Given the description of an element on the screen output the (x, y) to click on. 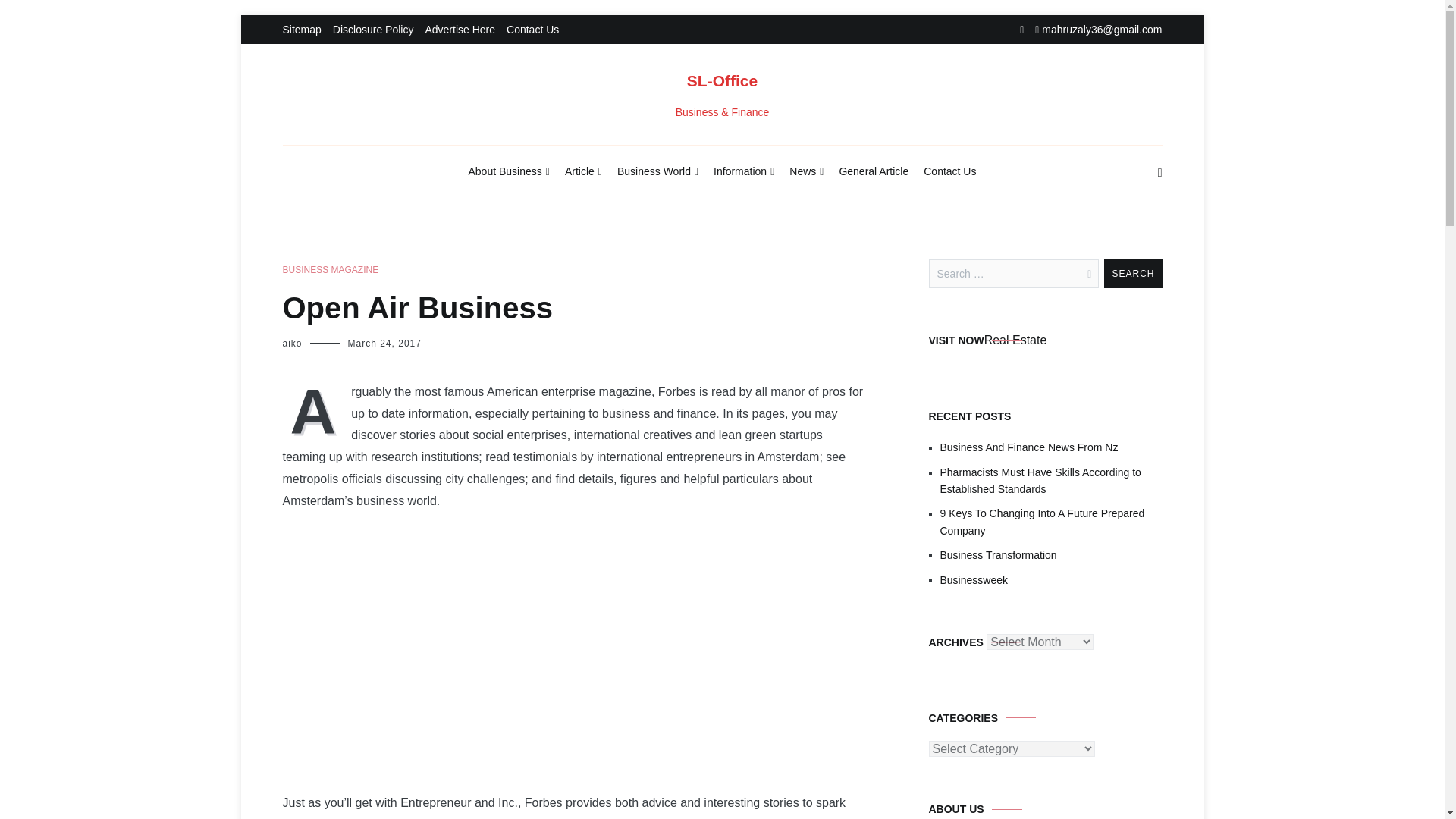
News (806, 171)
Advertise Here (460, 29)
Sitemap (301, 29)
Contact Us (949, 171)
Contact Us (532, 29)
General Article (873, 171)
SL-Office (722, 80)
Search (1132, 273)
Article (583, 171)
About Business (509, 171)
